Given the description of an element on the screen output the (x, y) to click on. 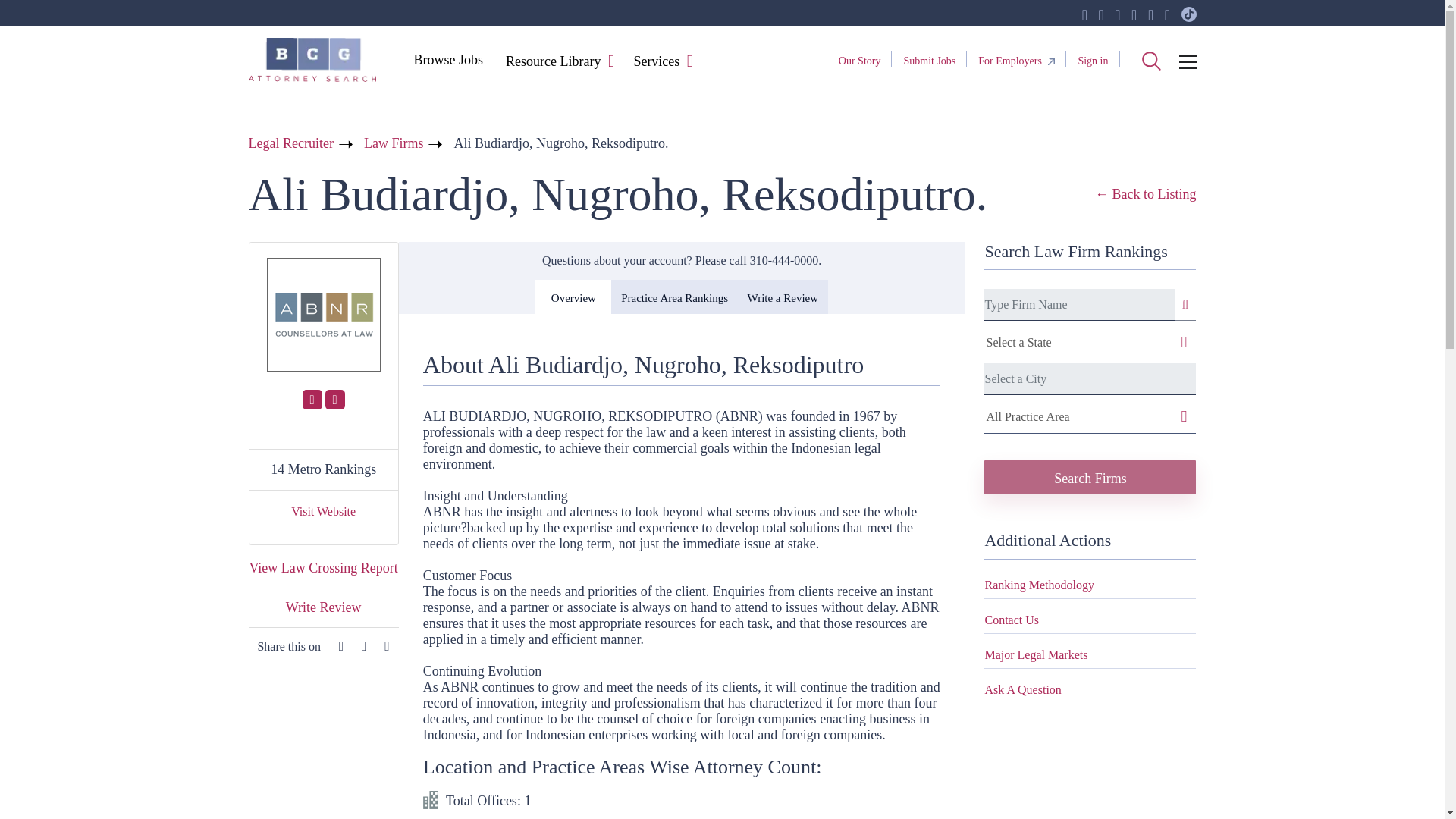
Resource Library (553, 62)
BCG Attorney Search Tiktok (1188, 14)
Browse Jobs (448, 59)
Services (655, 62)
